Given the description of an element on the screen output the (x, y) to click on. 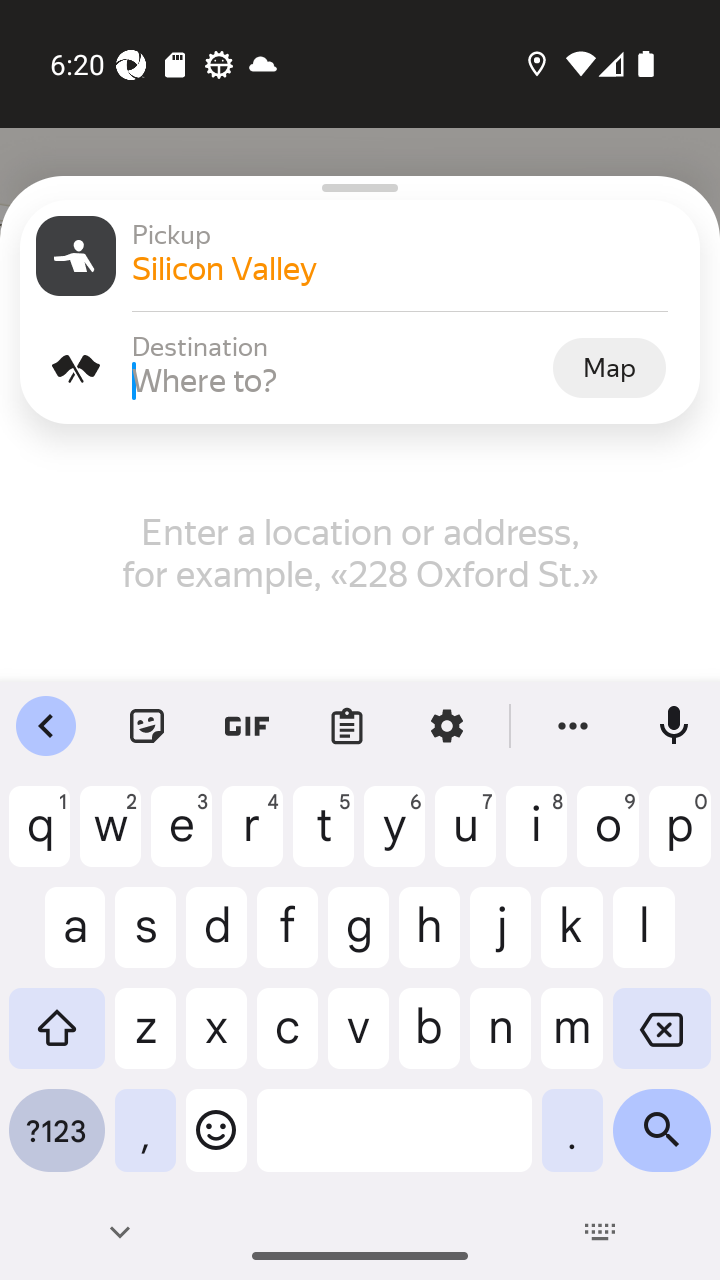
Pickup Pickup Silicon Valley (359, 255)
Silicon Valley (407, 268)
Destination Destination Where to? Map (359, 367)
Map (609, 367)
Where to? (340, 380)
